Given the description of an element on the screen output the (x, y) to click on. 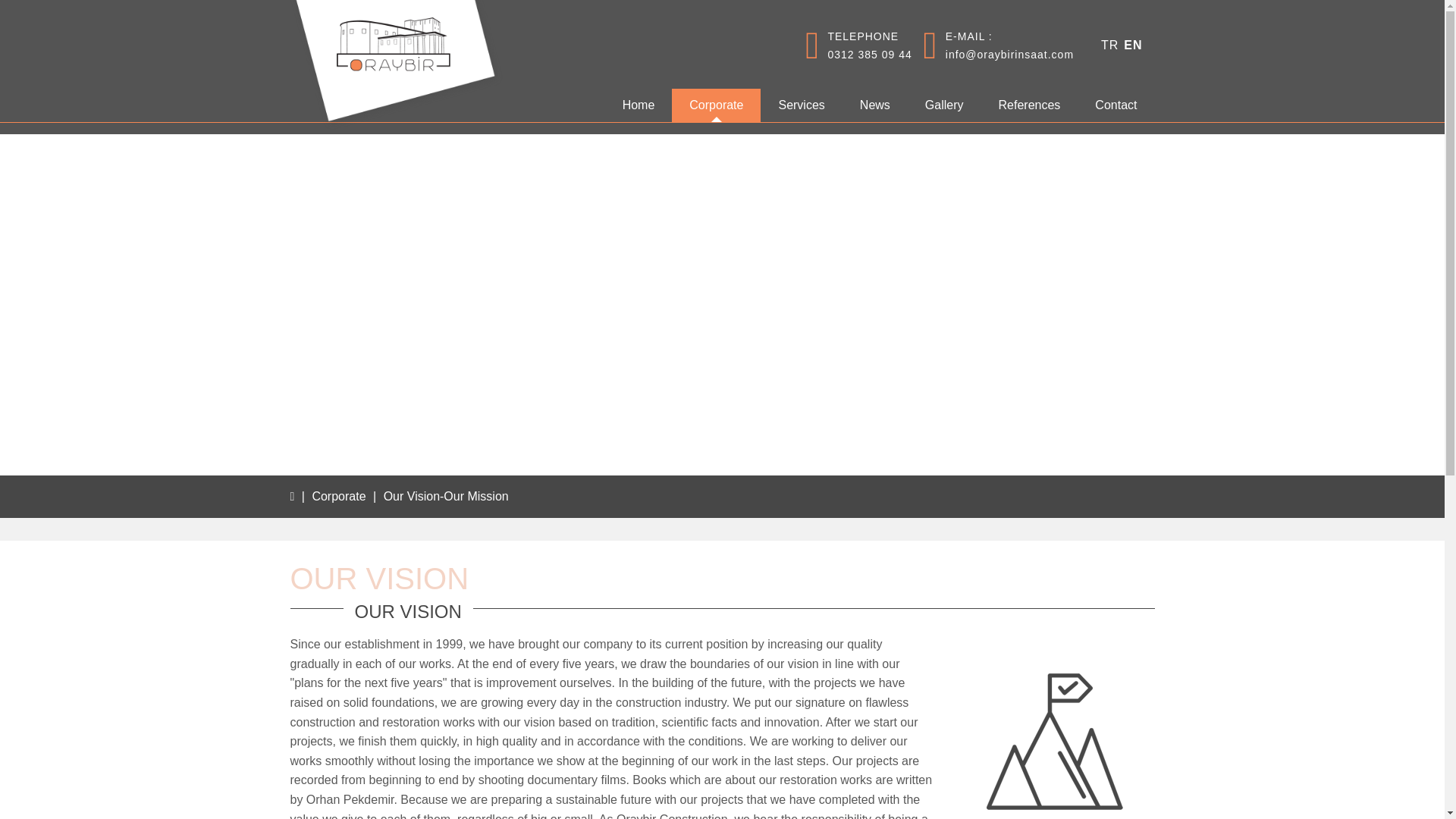
Corporate (715, 105)
Corporate (338, 495)
References (1029, 105)
Gallery (944, 105)
Contact (1115, 105)
Home (638, 105)
EN (1132, 44)
News (875, 105)
Our Vision-Our Mission (446, 495)
TR (858, 54)
English (1109, 44)
Services (1132, 44)
